Given the description of an element on the screen output the (x, y) to click on. 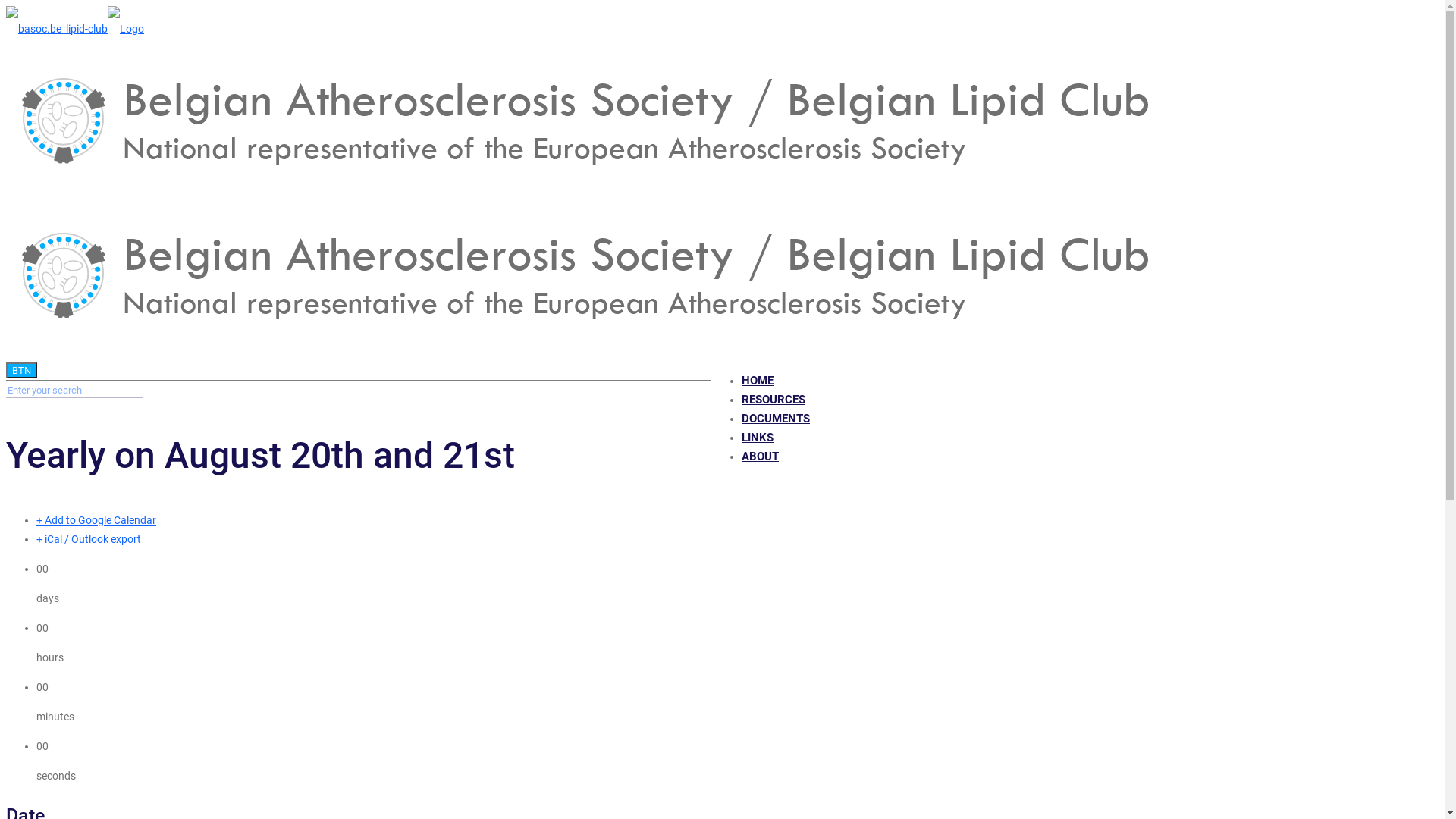
+ Add to Google Calendar Element type: text (96, 520)
+ iCal / Outlook export Element type: text (88, 539)
DOCUMENTS Element type: text (775, 418)
HOME Element type: text (757, 380)
LINKS Element type: text (757, 437)
BTN Element type: text (21, 370)
ABOUT Element type: text (759, 456)
RESOURCES Element type: text (773, 399)
